Given the description of an element on the screen output the (x, y) to click on. 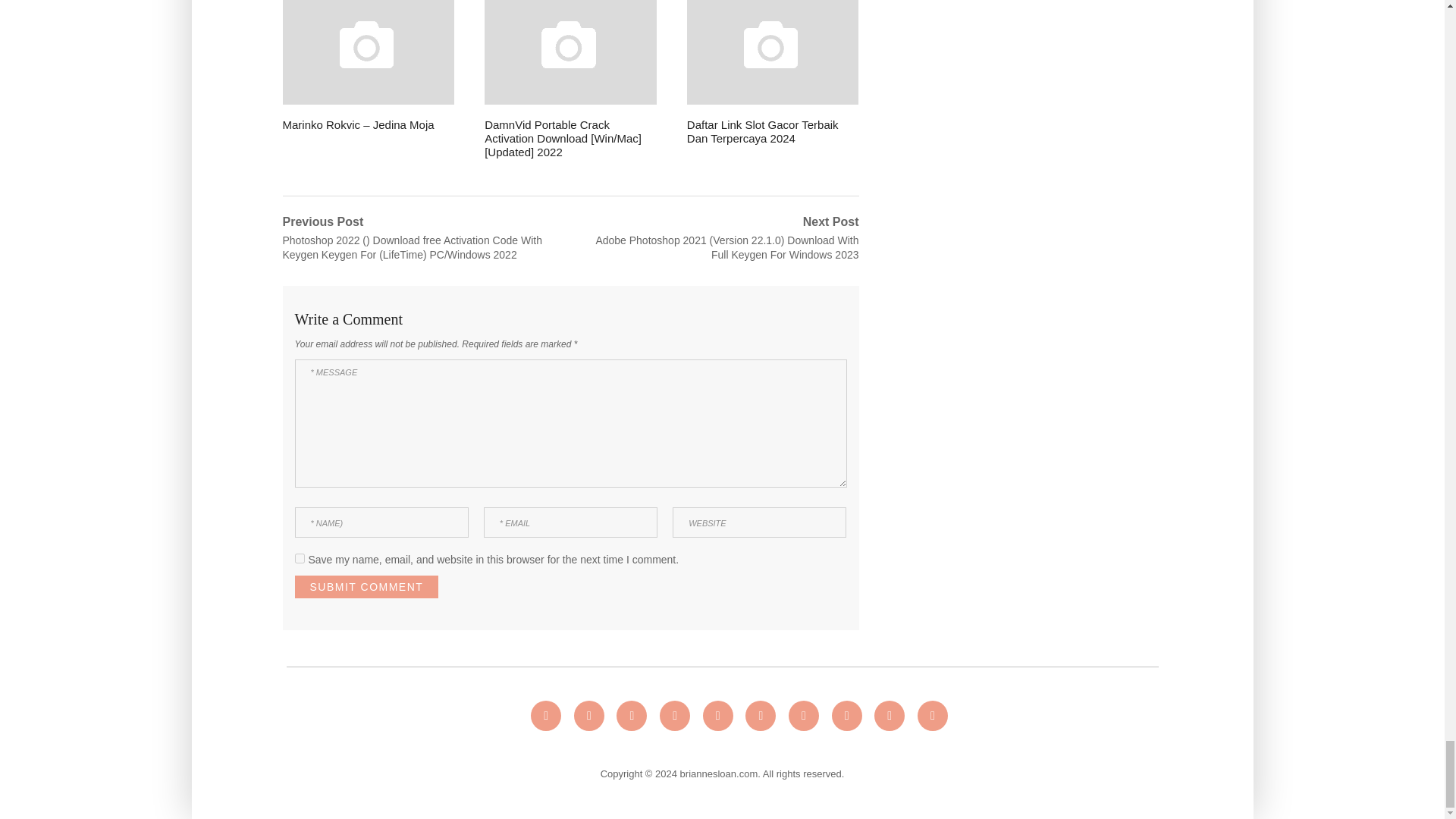
Daftar Link Slot Gacor Terbaik Dan Terpercaya 2024 (773, 72)
Submit Comment (366, 586)
yes (299, 558)
